Given the description of an element on the screen output the (x, y) to click on. 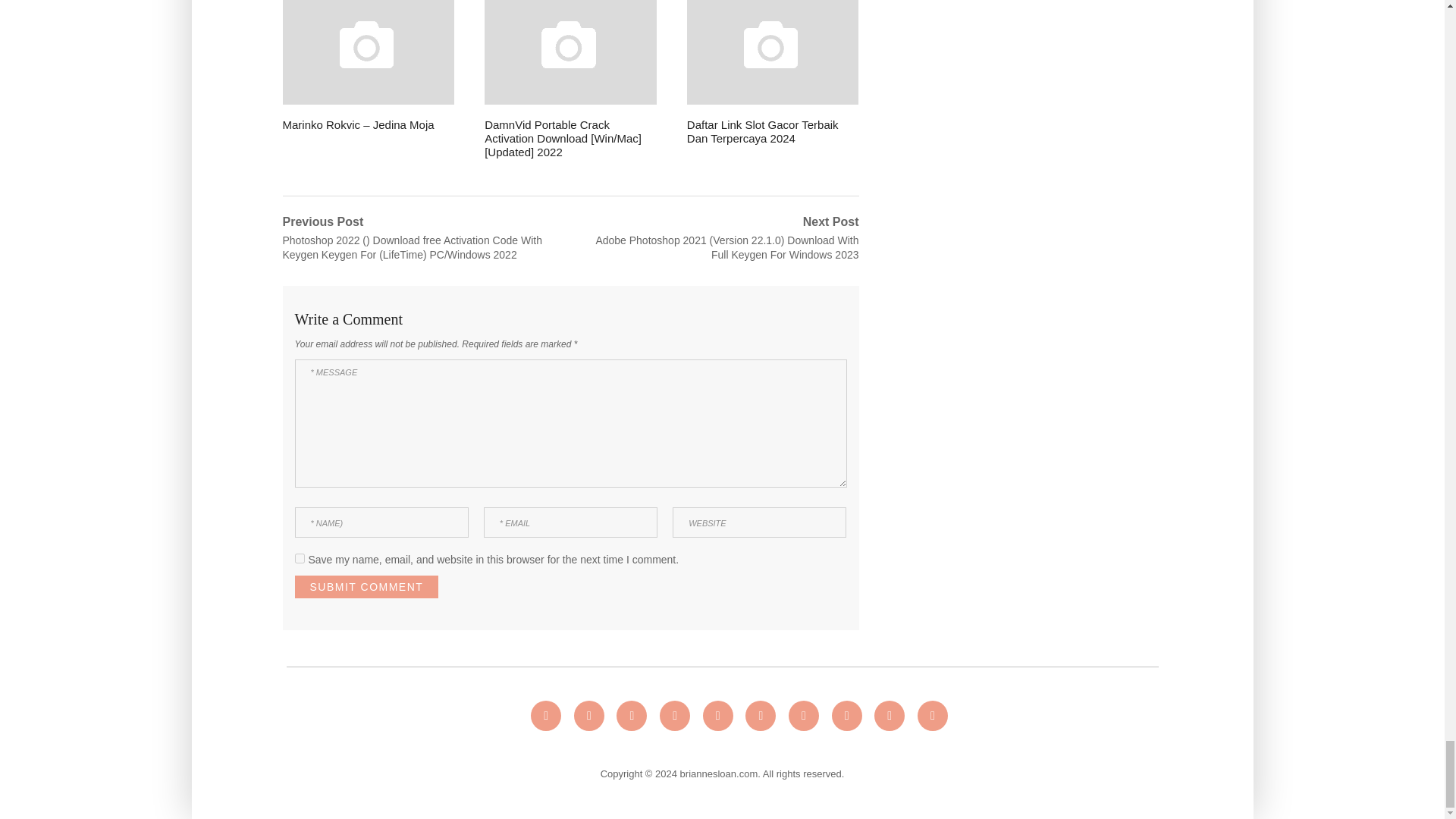
Daftar Link Slot Gacor Terbaik Dan Terpercaya 2024 (773, 72)
Submit Comment (366, 586)
yes (299, 558)
